Given the description of an element on the screen output the (x, y) to click on. 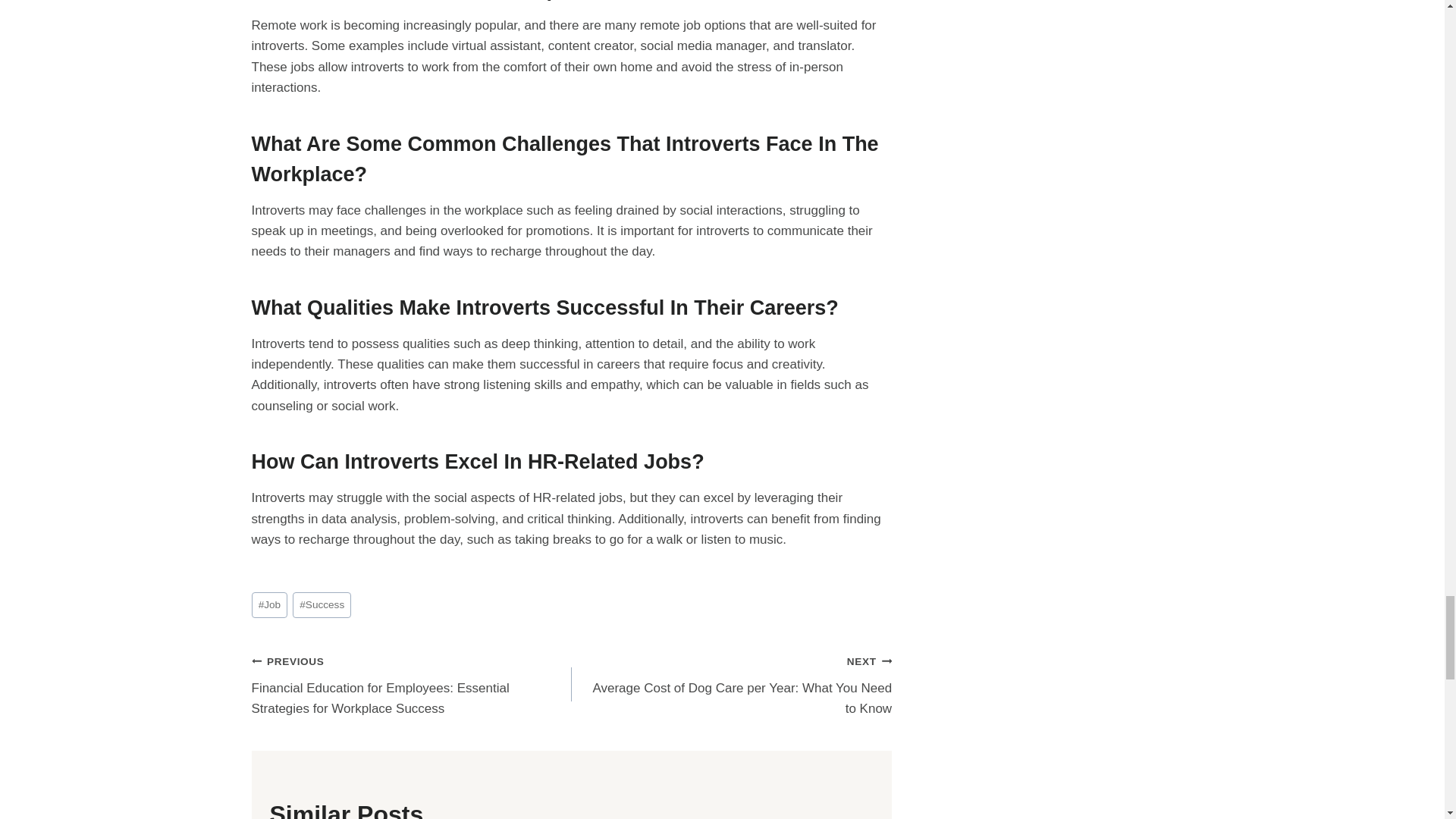
Success (321, 605)
Job (269, 605)
